Given the description of an element on the screen output the (x, y) to click on. 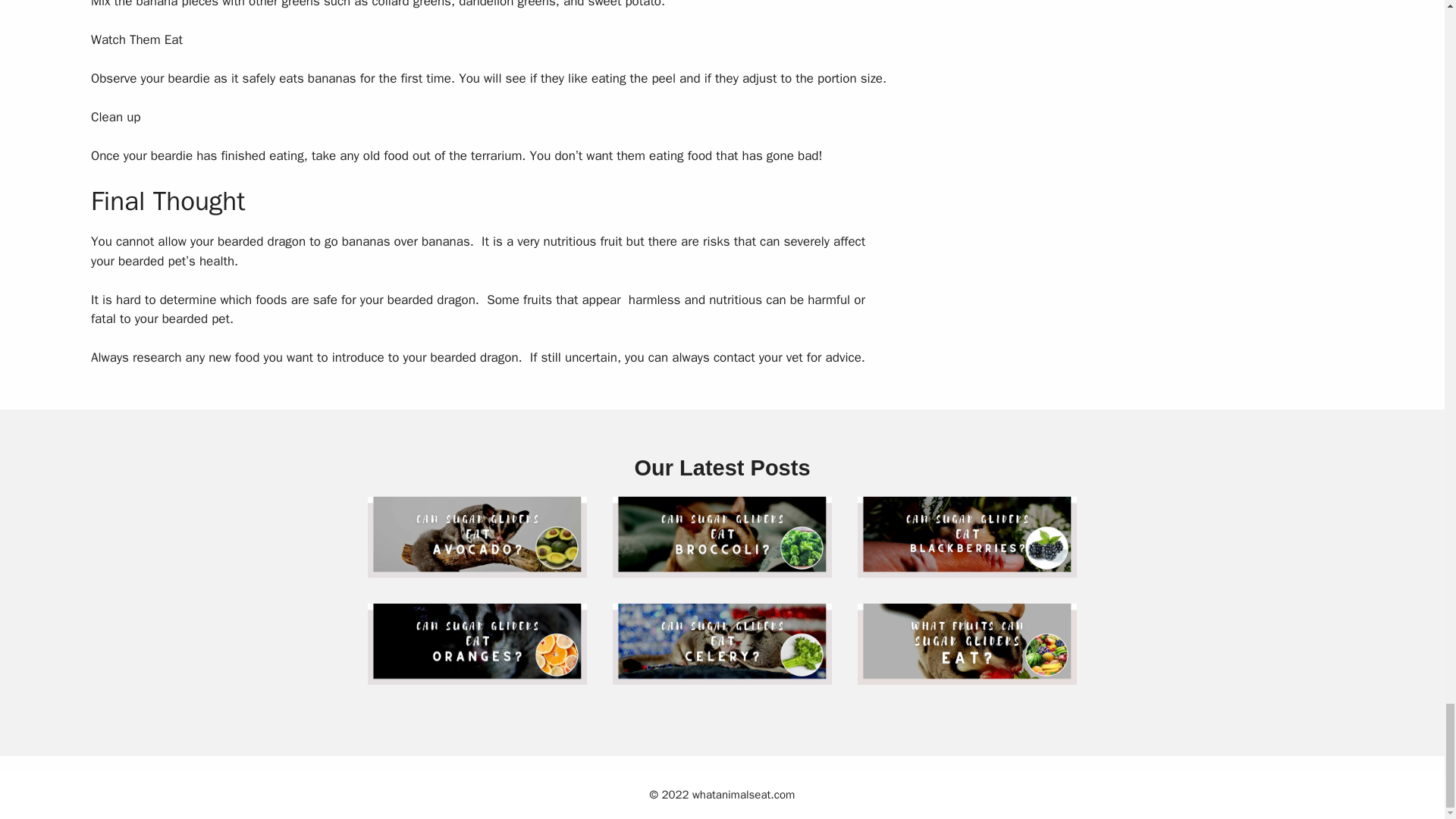
Can Sugar Gliders Eat Oranges? (477, 675)
Can Sugar Gliders Eat Celery? (721, 675)
Can Sugar Gliders Eat Blackberries? (967, 568)
What Fruits Can Sugar Gliders Eat? (967, 675)
Can Sugar Gliders Eat Broccoli? (721, 568)
Can Sugar Gliders Eat Avocado? (477, 568)
